Given the description of an element on the screen output the (x, y) to click on. 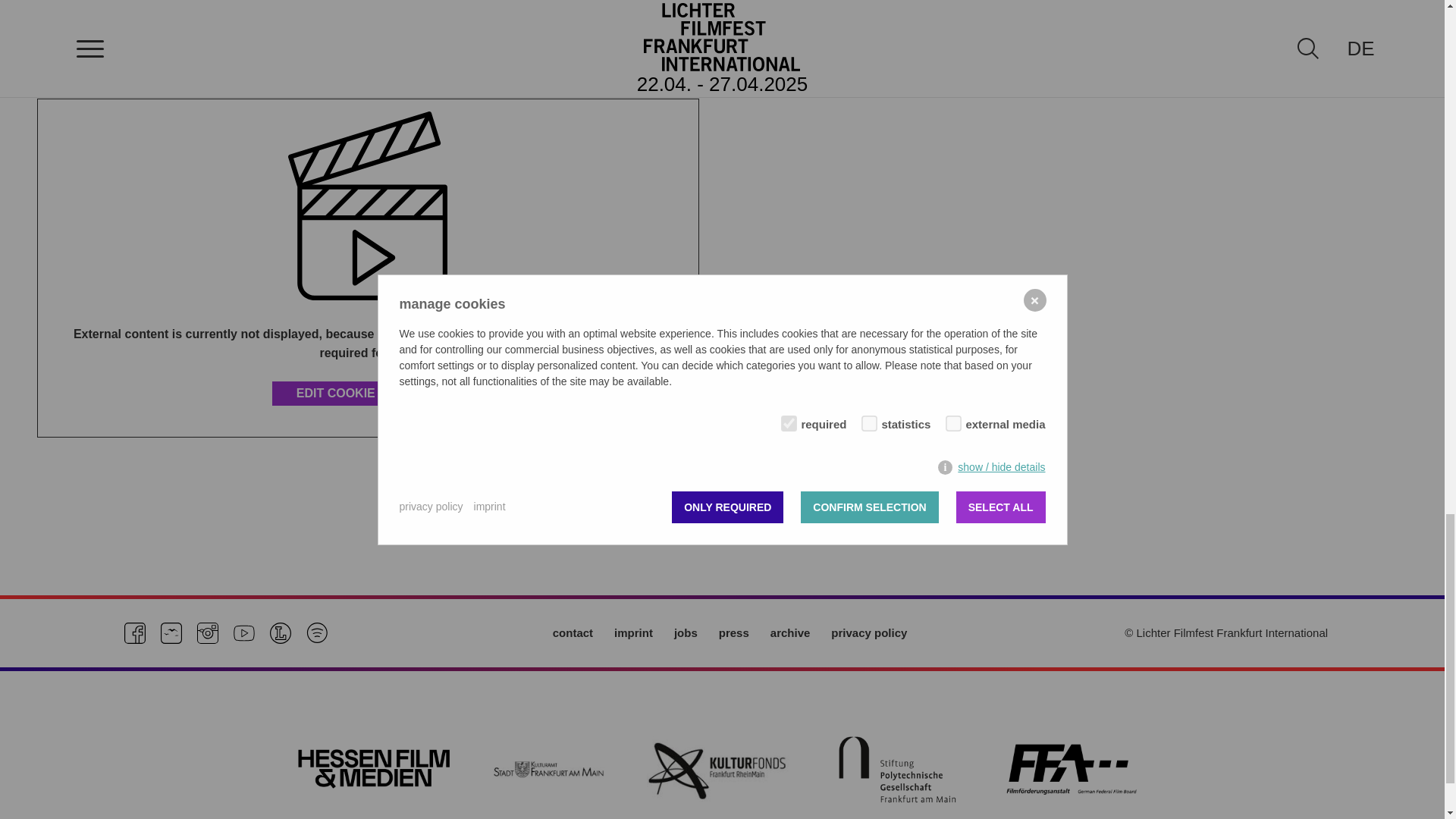
youtube (243, 632)
spotify (316, 632)
instagram (207, 632)
facebook (134, 632)
bluesky (171, 632)
letterboxd (280, 632)
